Given the description of an element on the screen output the (x, y) to click on. 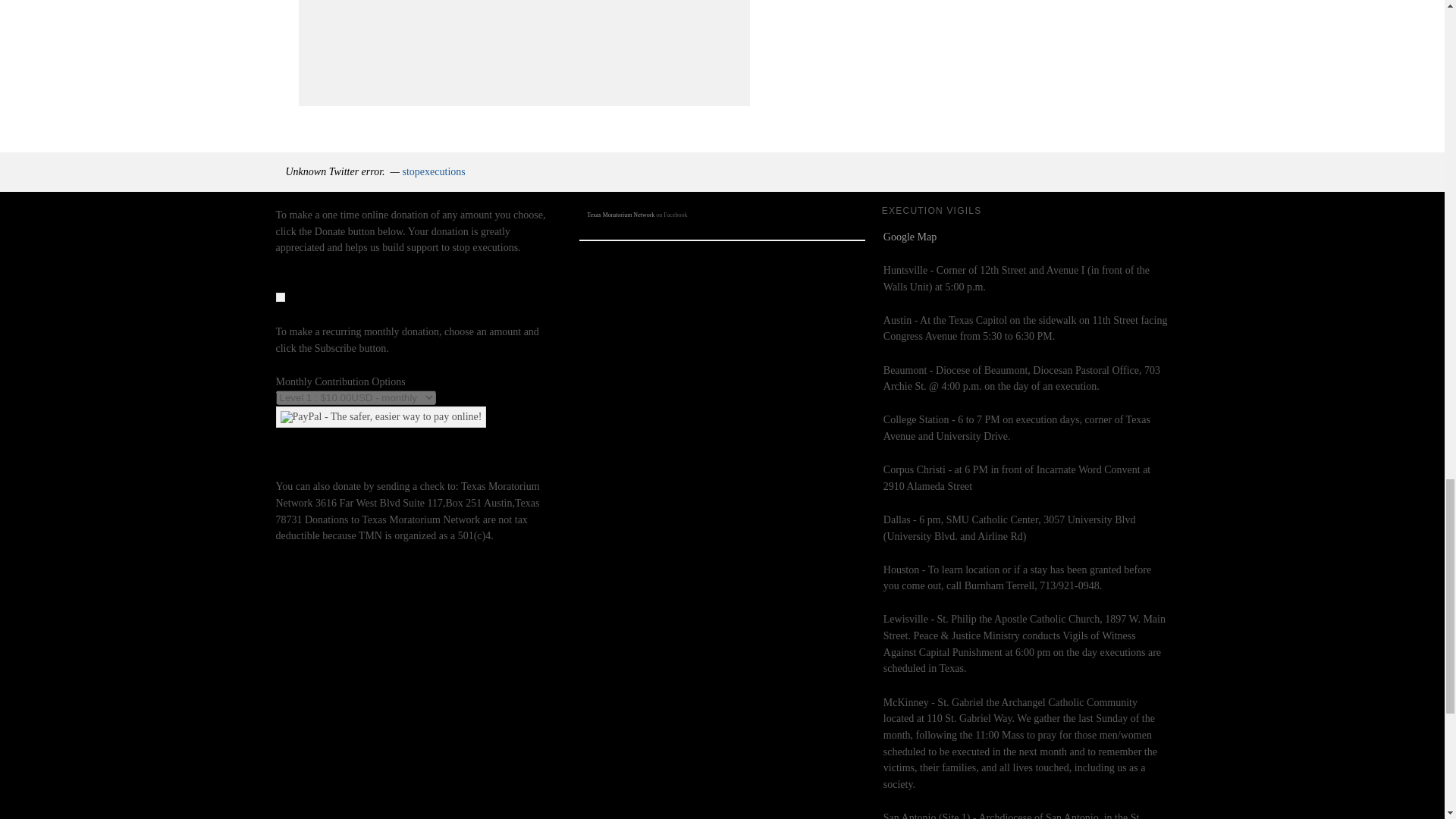
Texas Moratorium Network (619, 214)
Google Map (909, 236)
Comment Form (523, 53)
stopexecutions (434, 171)
